Given the description of an element on the screen output the (x, y) to click on. 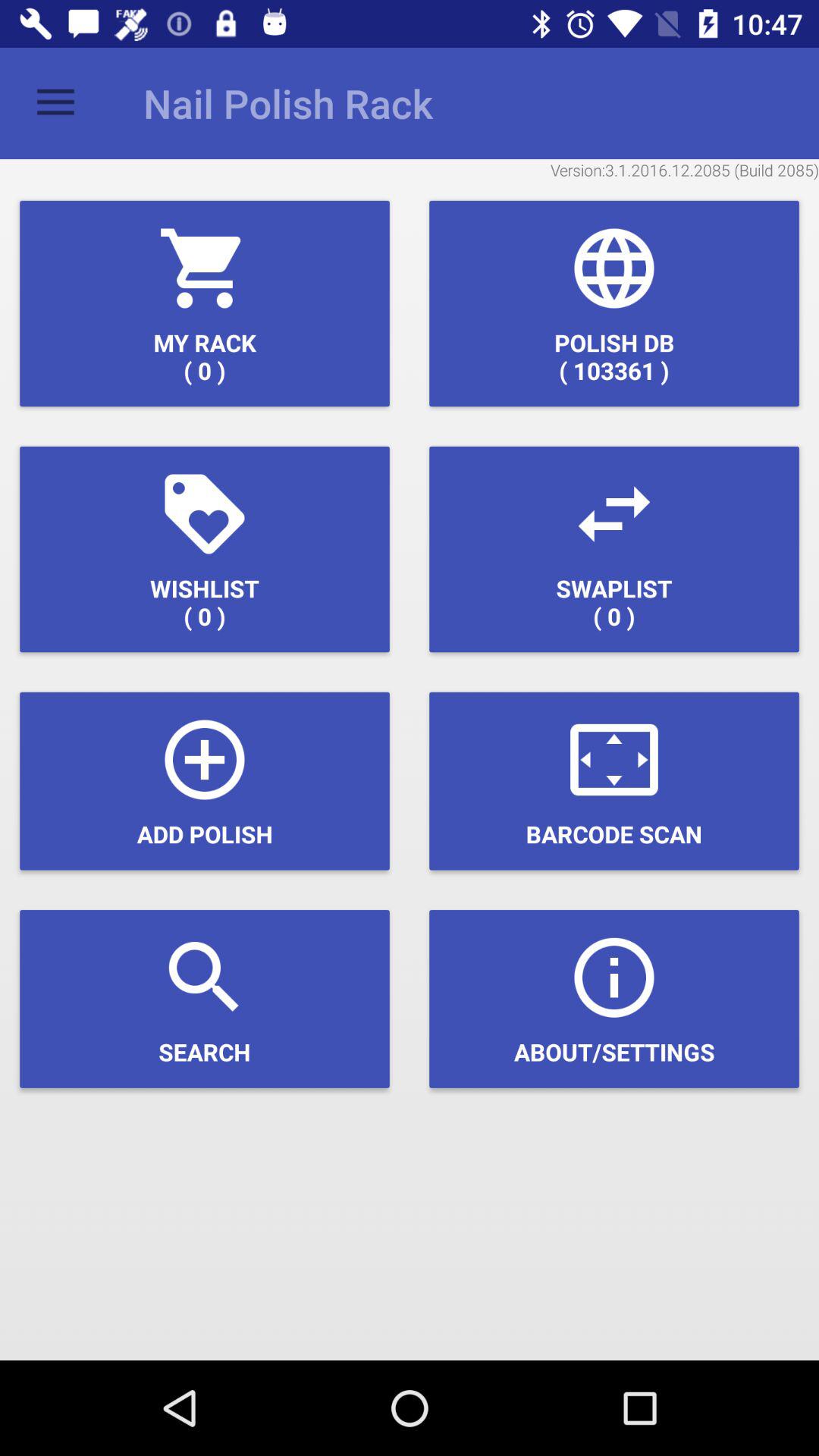
click the item above the about/settings item (614, 781)
